Given the description of an element on the screen output the (x, y) to click on. 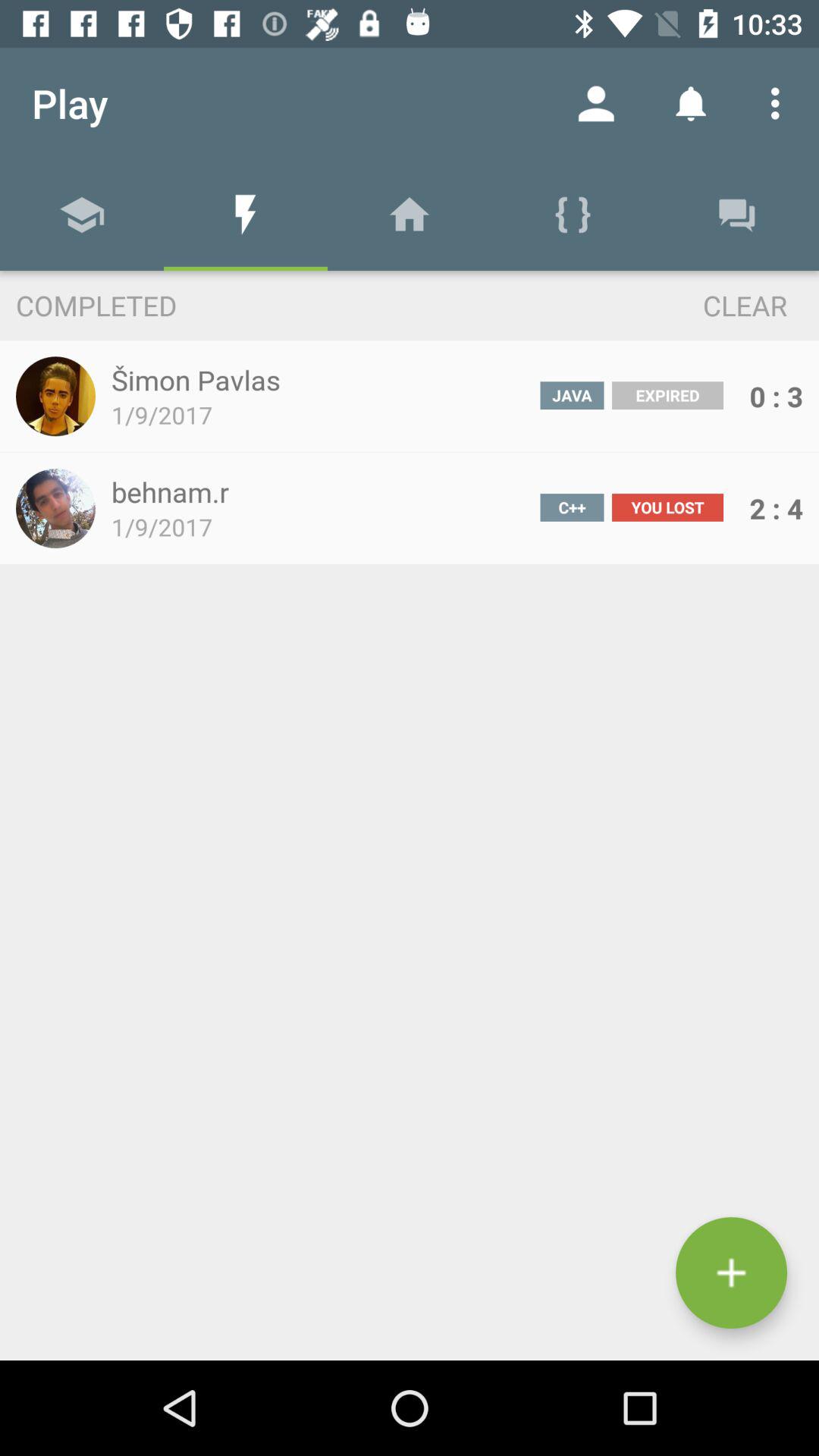
add a line of new codes (731, 1272)
